Given the description of an element on the screen output the (x, y) to click on. 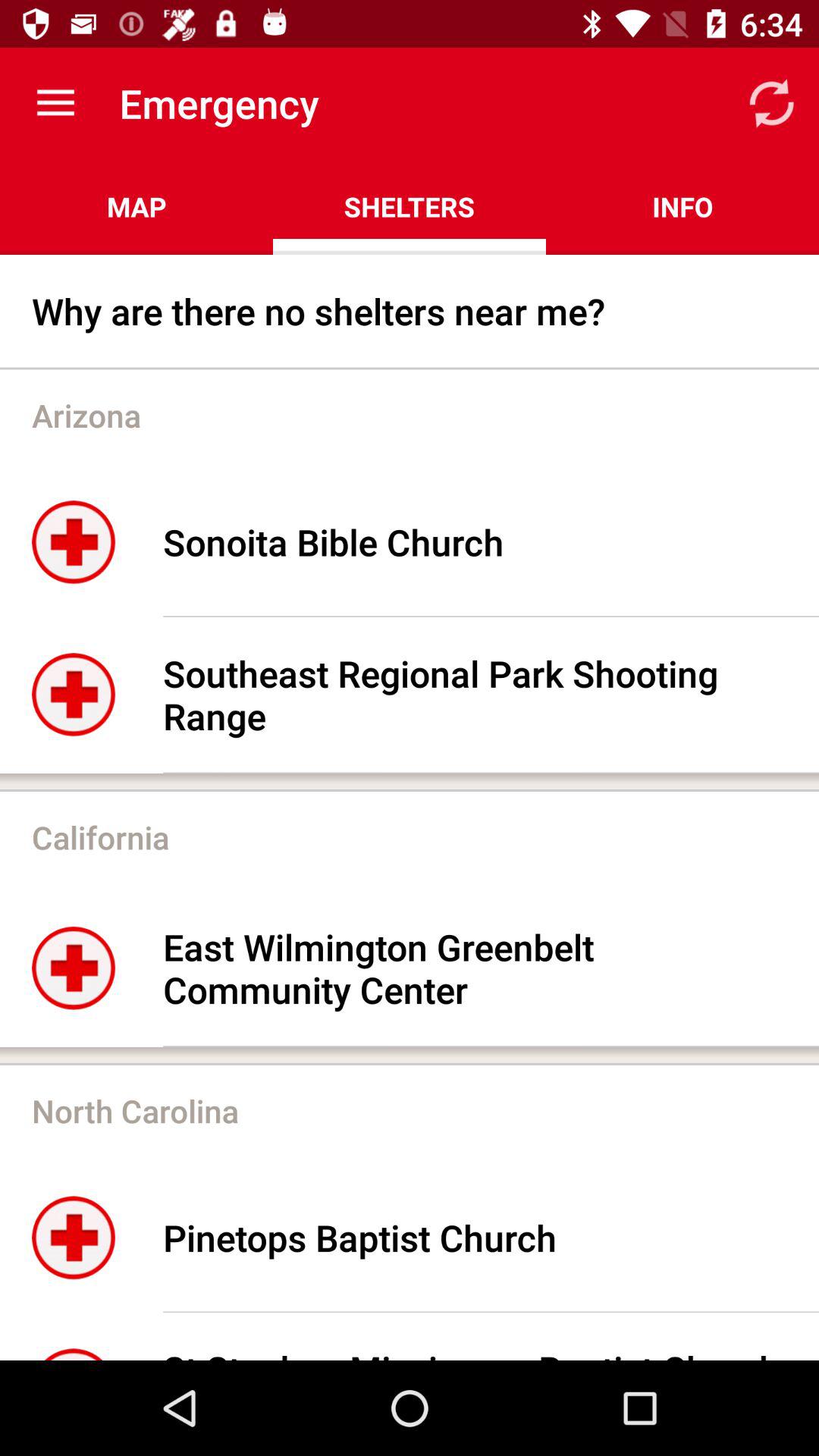
turn off the item next to shelters icon (136, 206)
